Given the description of an element on the screen output the (x, y) to click on. 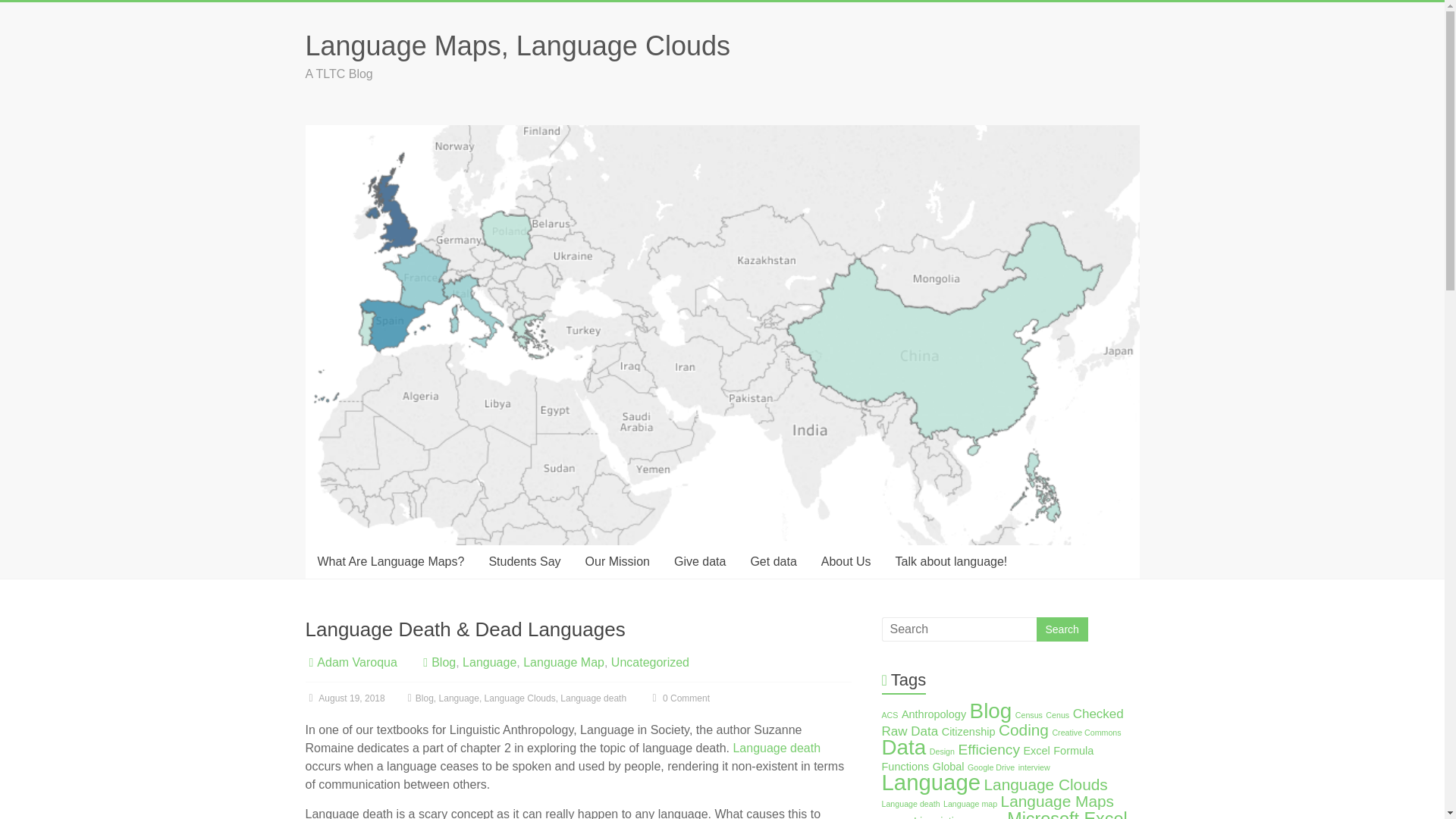
8:49 pm (344, 697)
Language Clouds (520, 697)
Get data (773, 561)
About Us (846, 561)
Students Say (524, 561)
Language Maps, Language Clouds (516, 45)
Blog (423, 697)
Search (1061, 629)
Blog (990, 710)
0 Comment (679, 697)
